Given the description of an element on the screen output the (x, y) to click on. 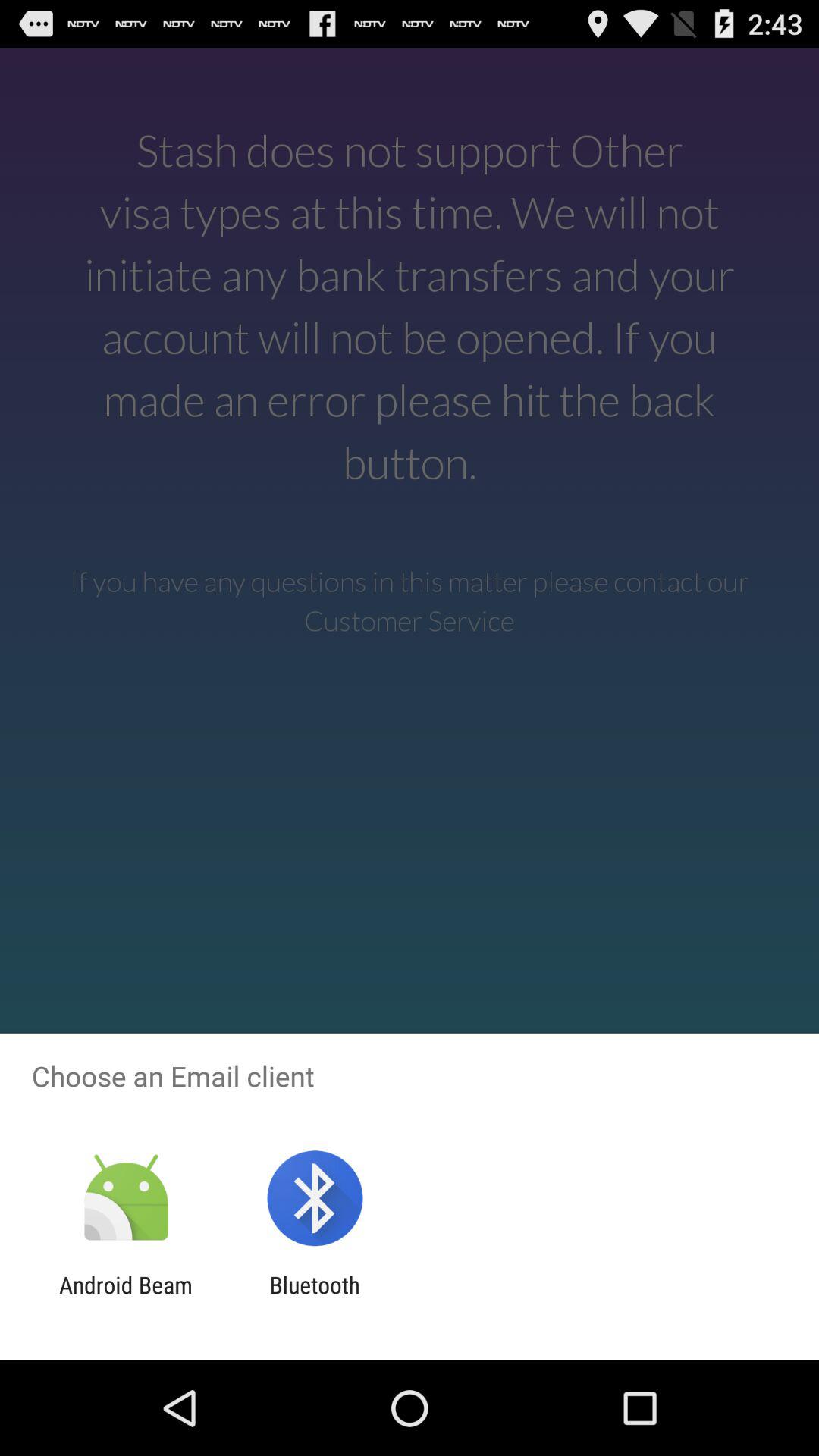
select item next to the android beam app (314, 1298)
